Given the description of an element on the screen output the (x, y) to click on. 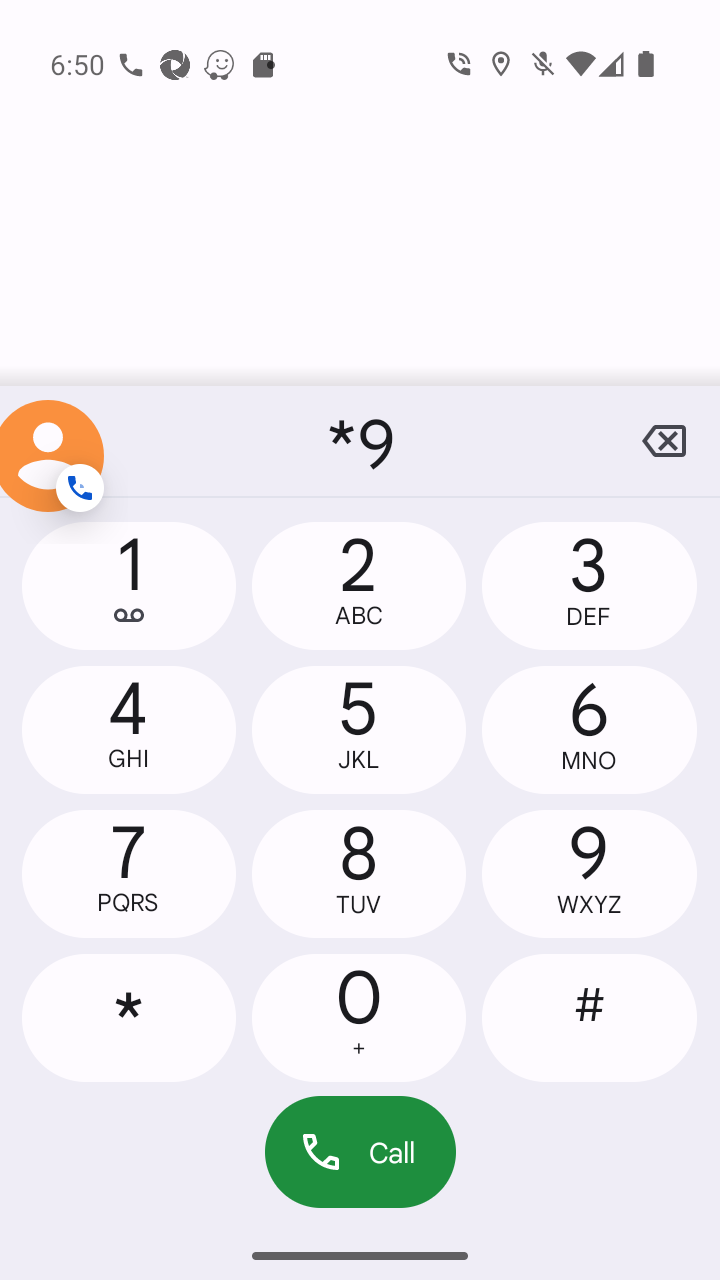
More options (56, 441)
*9 (359, 441)
backspace (663, 441)
1, 1 (129, 586)
2,ABC 2 ABC (358, 586)
3,DEF 3 DEF (588, 586)
4,GHI 4 GHI (129, 729)
5,JKL 5 JKL (358, 729)
6,MNO 6 MNO (588, 729)
7,PQRS 7 PQRS (129, 874)
8,TUV 8 TUV (358, 874)
9,WXYZ 9 WXYZ (588, 874)
* (129, 1017)
0 0 + (358, 1017)
# (588, 1017)
Call dial (359, 1151)
